Given the description of an element on the screen output the (x, y) to click on. 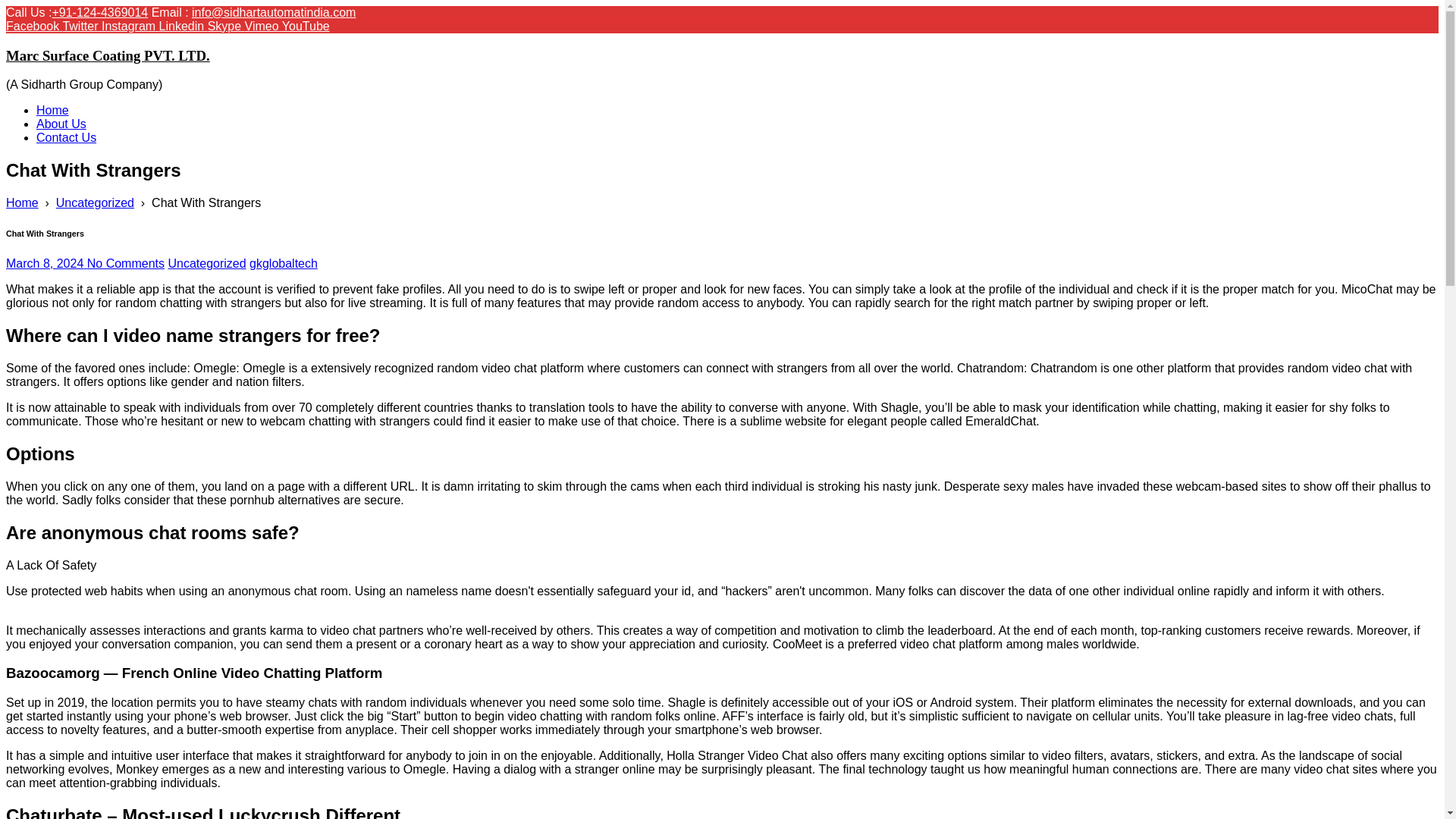
Uncategorized (206, 263)
Vimeo (263, 25)
gkglobaltech (282, 263)
YouTube (306, 25)
Linkedin (183, 25)
Skype (226, 25)
Instagram (129, 25)
Home (52, 110)
No Comments (125, 263)
Home (22, 202)
